Given the description of an element on the screen output the (x, y) to click on. 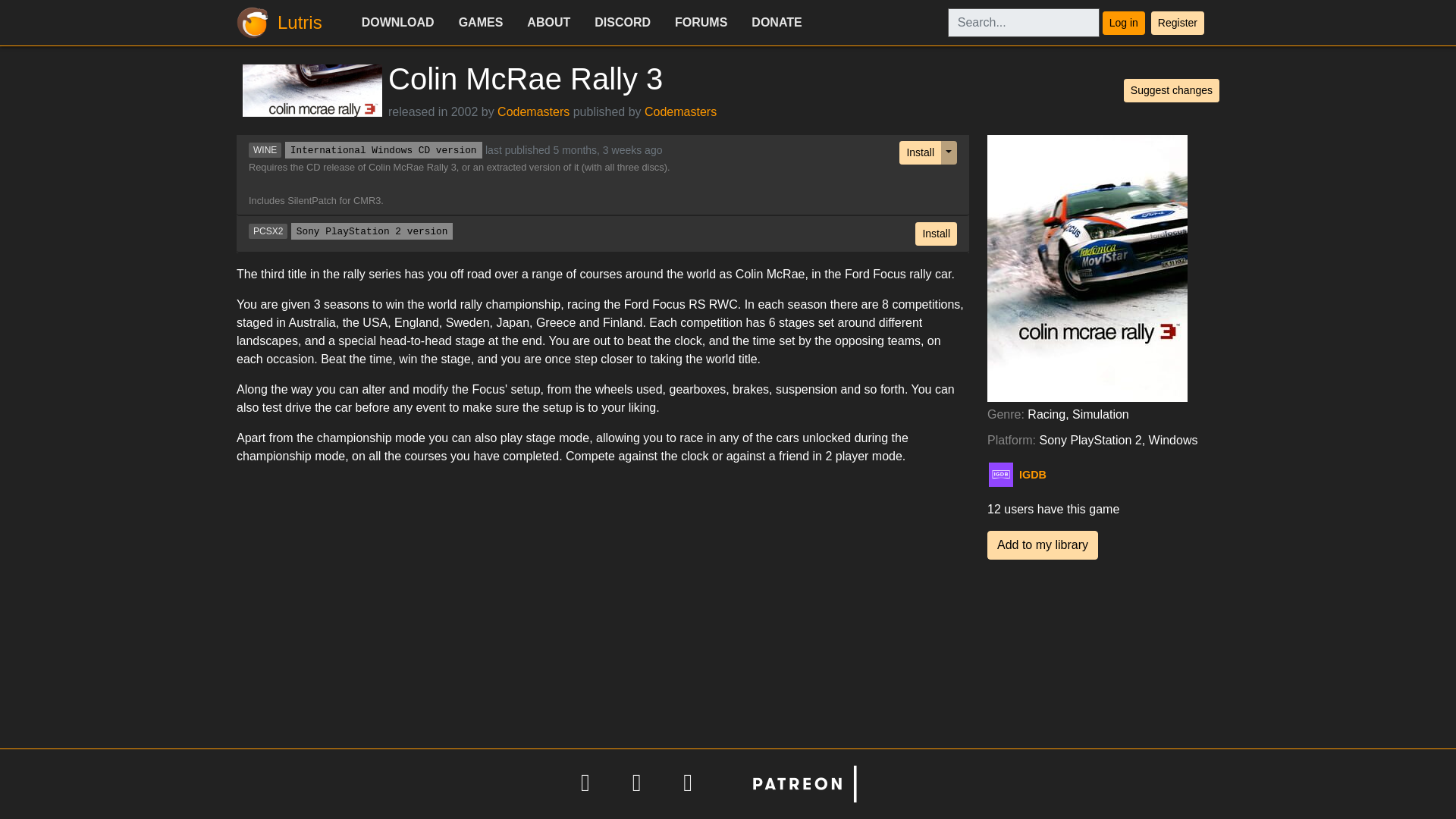
Suggest changes (1172, 90)
DISCORD (622, 22)
Lutris (283, 22)
Install (935, 233)
Codemasters (533, 110)
Add to my library (1042, 544)
Register (1177, 22)
IGDB (1053, 474)
DONATE (776, 22)
FORUMS (700, 22)
